Given the description of an element on the screen output the (x, y) to click on. 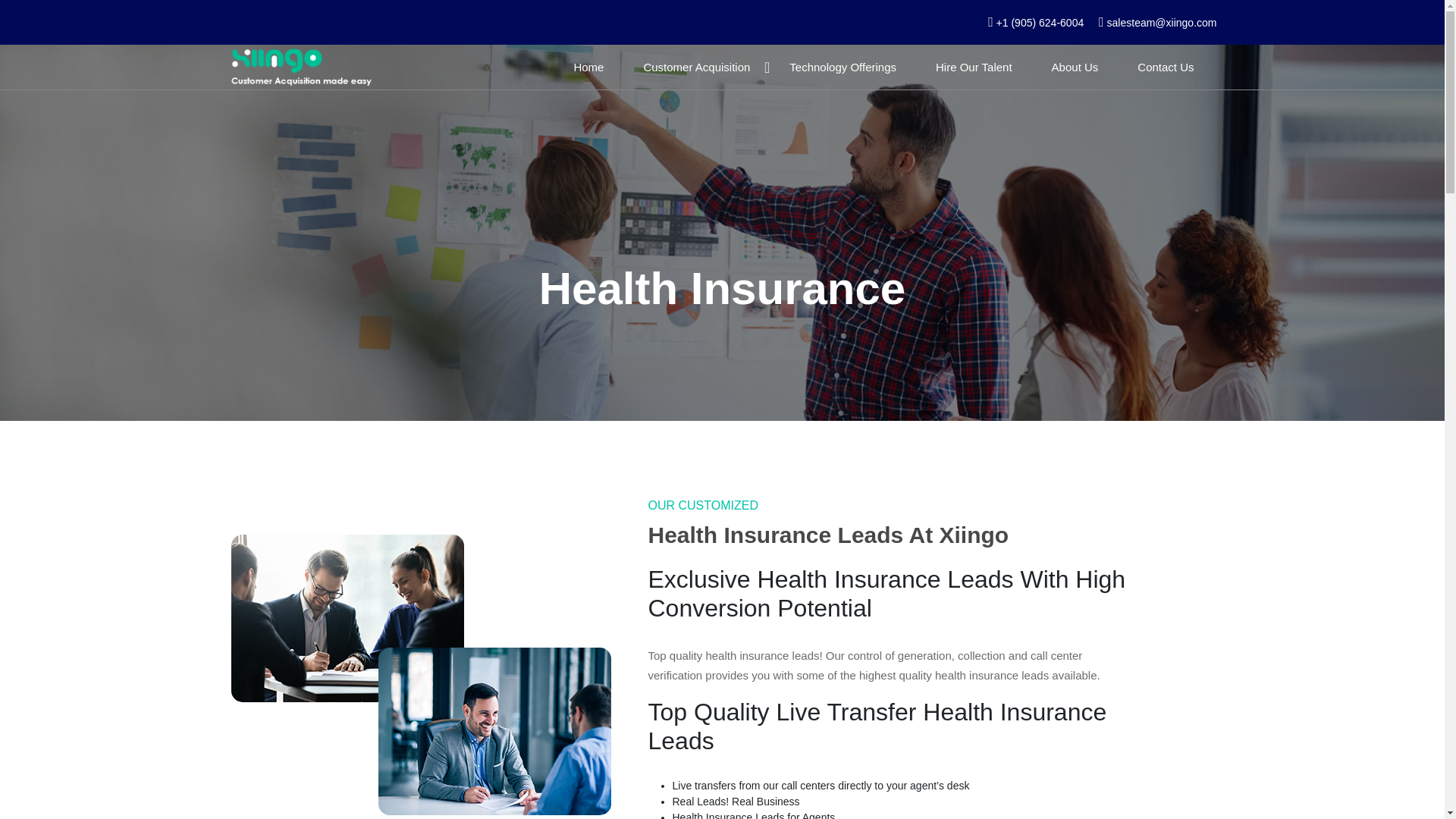
About Us (1075, 66)
Technology Offerings (842, 66)
Customer Acquisition (696, 66)
Contact Us (1165, 66)
Hire Our Talent (973, 66)
Home (588, 66)
